Given the description of an element on the screen output the (x, y) to click on. 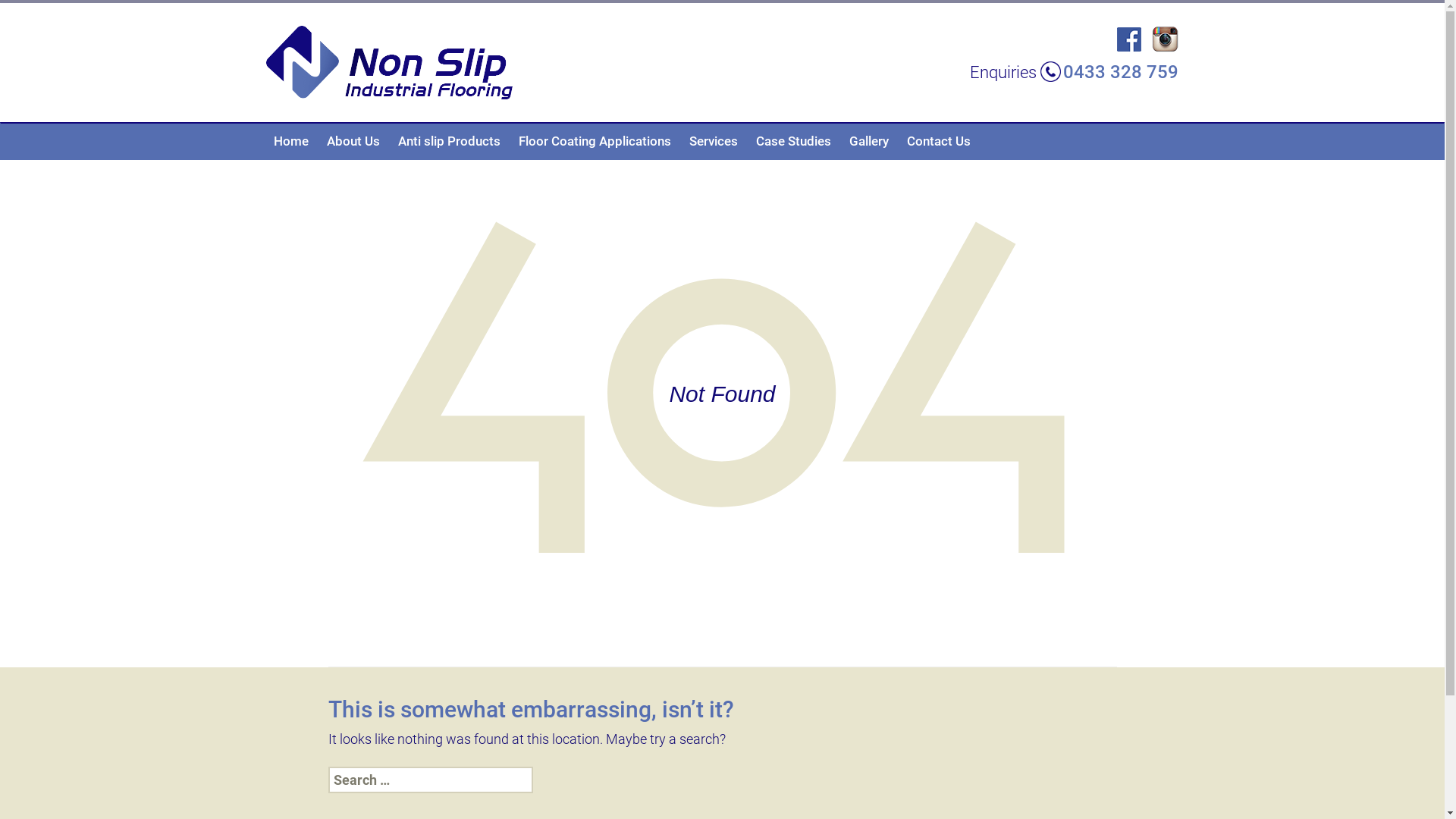
About Us Element type: text (353, 141)
Case Studies Element type: text (793, 141)
Garage Floor Coating Element type: text (585, 176)
0433 328 759 Element type: text (1109, 71)
Gallery Element type: text (868, 141)
Anti slip Products Element type: text (449, 141)
Home Element type: text (291, 141)
Services Element type: text (713, 141)
Floor Coating Applications Element type: text (594, 141)
Contact Us Element type: text (938, 141)
Search for: Element type: hover (429, 779)
Non Slip Industrial Flooring Element type: hover (389, 61)
Search Element type: text (39, 17)
